Given the description of an element on the screen output the (x, y) to click on. 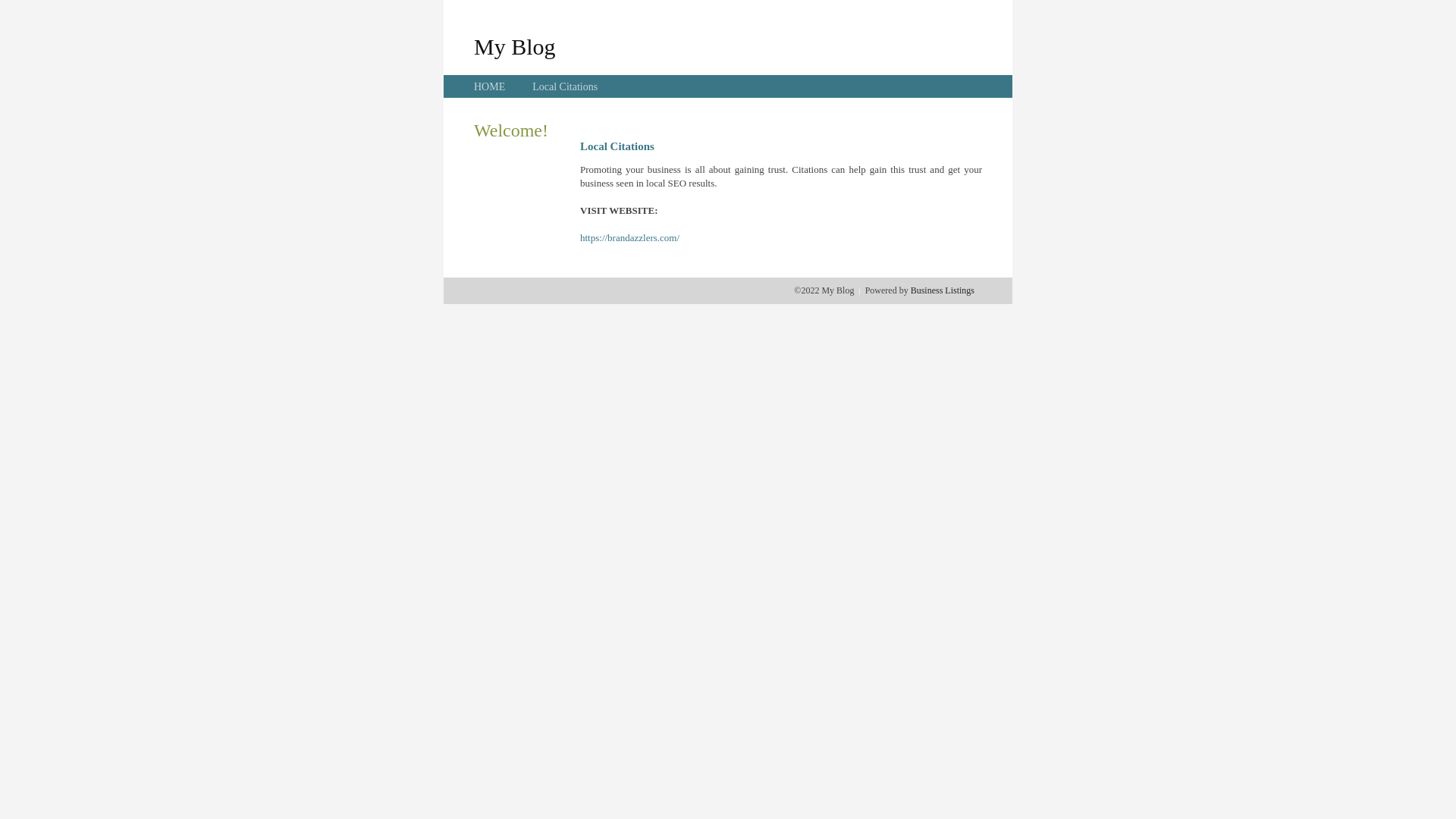
Local Citations Element type: text (564, 86)
My Blog Element type: text (514, 46)
Business Listings Element type: text (942, 290)
HOME Element type: text (489, 86)
https://brandazzlers.com/ Element type: text (629, 237)
